Given the description of an element on the screen output the (x, y) to click on. 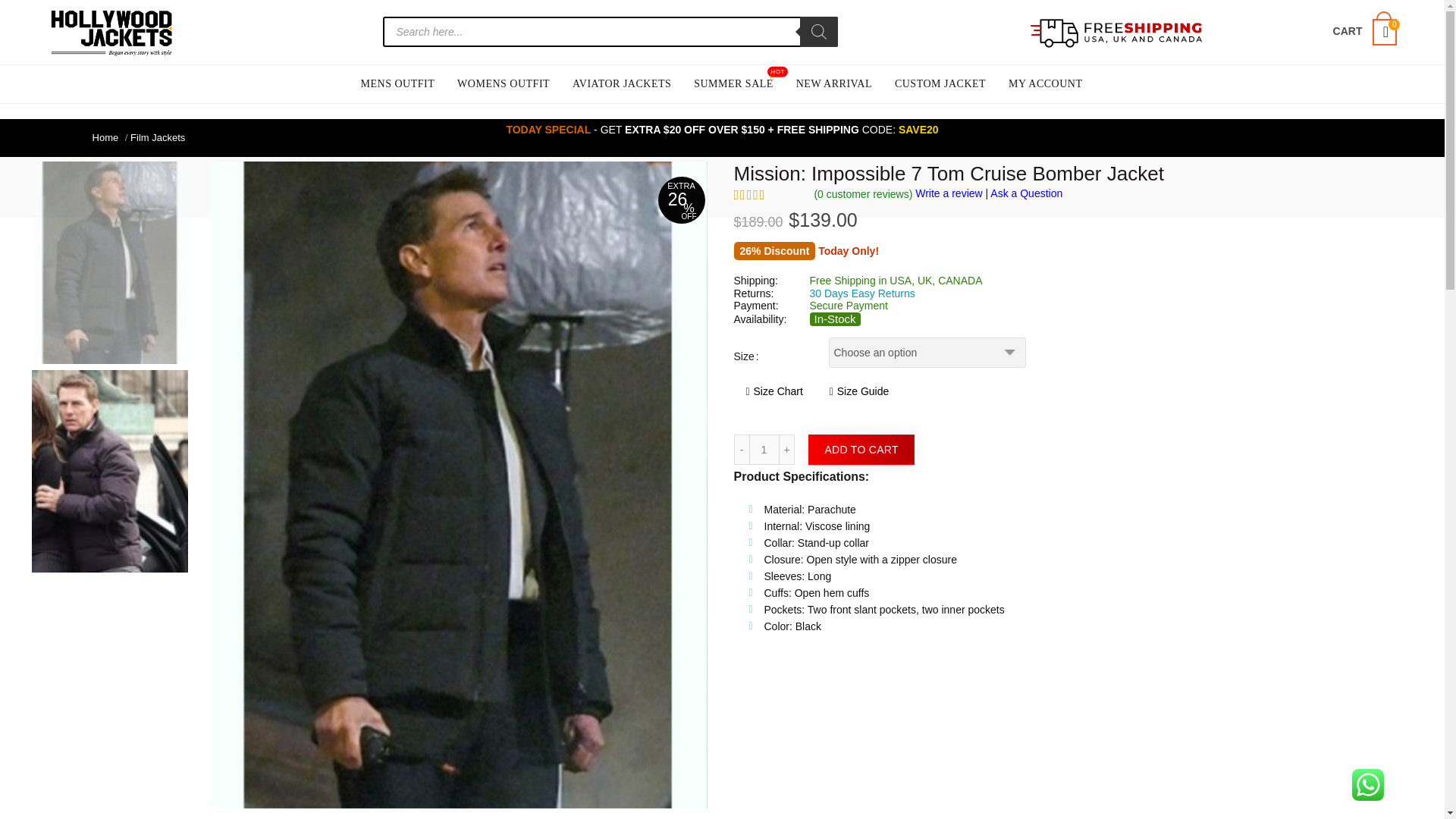
1 (763, 449)
Rated 0 out of 5 (768, 194)
Qty (763, 449)
- (741, 449)
